Given the description of an element on the screen output the (x, y) to click on. 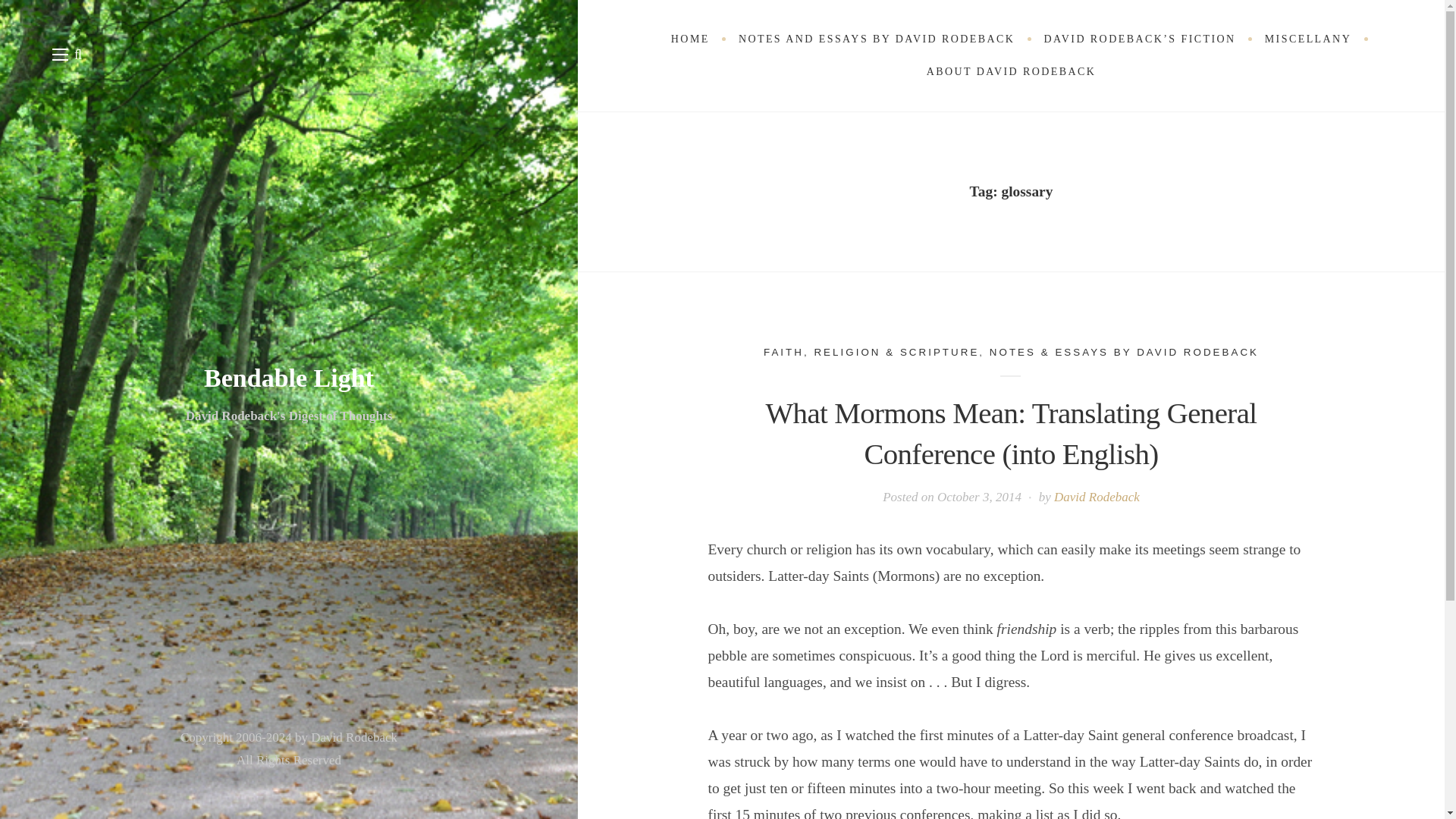
MISCELLANY (1308, 38)
HOME (689, 38)
David Rodeback (1097, 496)
ABOUT DAVID RODEBACK (1011, 71)
NOTES AND ESSAYS BY DAVID RODEBACK (876, 38)
Bendable Light (288, 377)
